Given the description of an element on the screen output the (x, y) to click on. 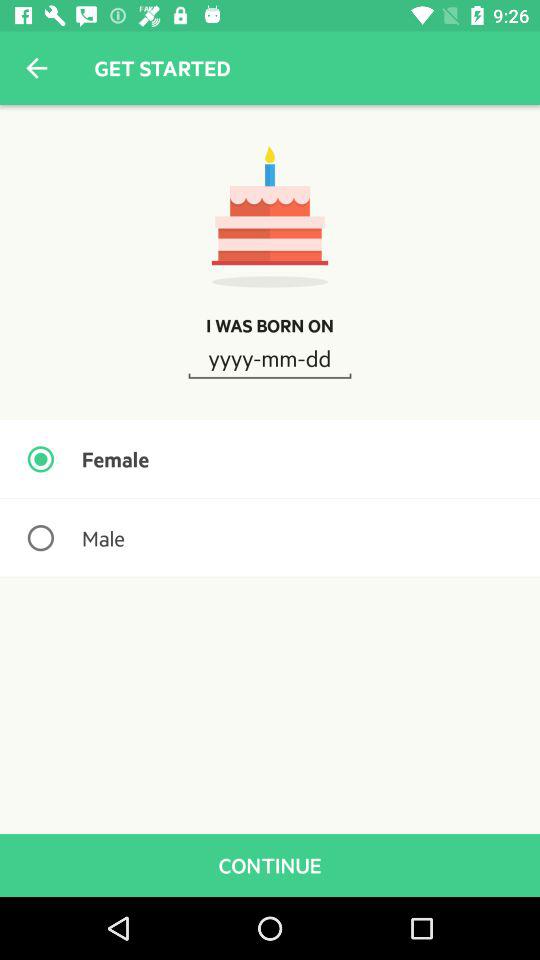
swipe until female (270, 459)
